Given the description of an element on the screen output the (x, y) to click on. 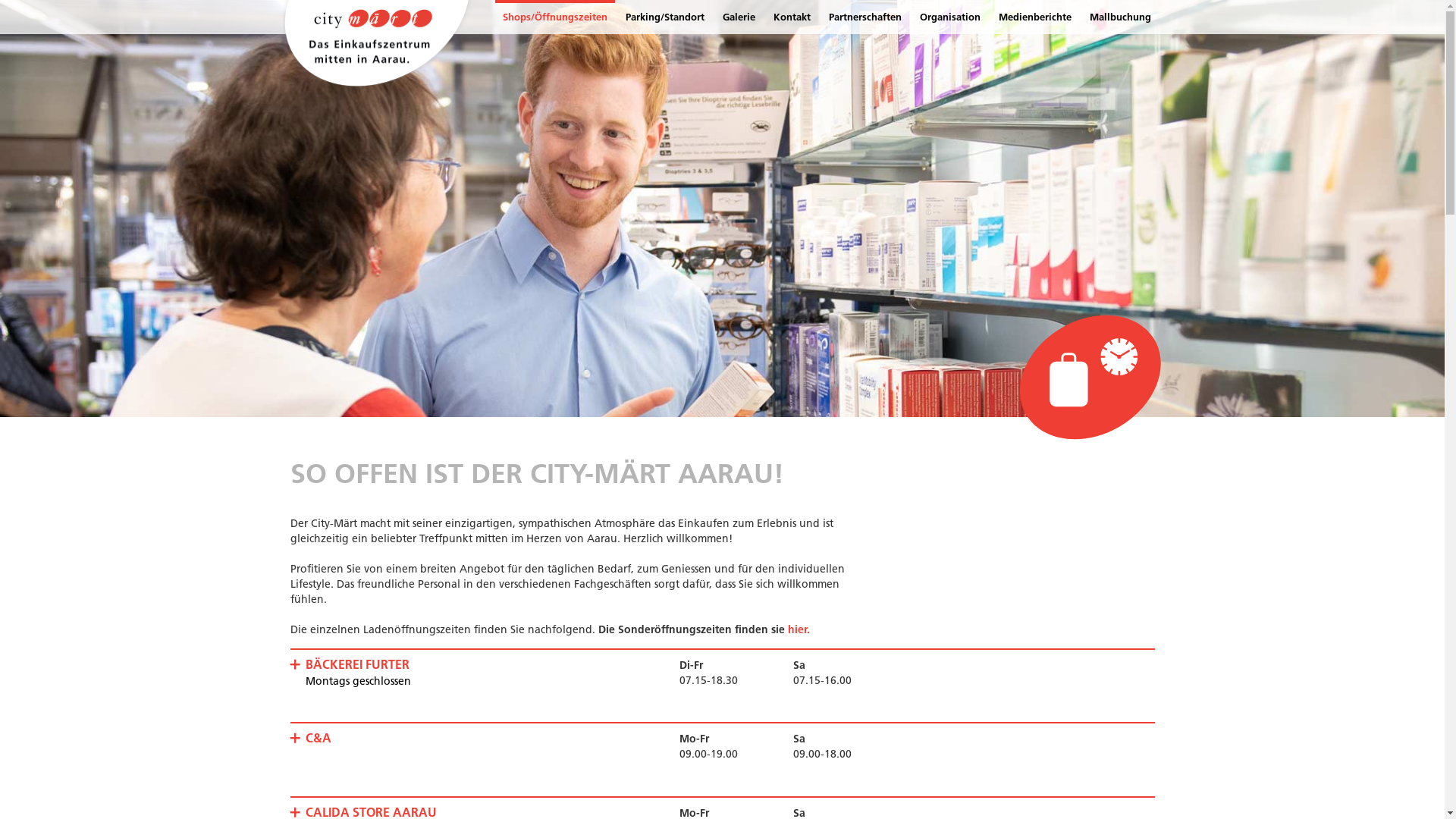
hier. Element type: text (798, 629)
Partnerschaften Element type: text (864, 16)
Medienberichte Element type: text (1034, 16)
Parking/Standort Element type: text (664, 16)
Mallbuchung Element type: text (1119, 16)
Organisation Element type: text (949, 16)
Kontakt Element type: text (791, 16)
Galerie Element type: text (738, 16)
